Given the description of an element on the screen output the (x, y) to click on. 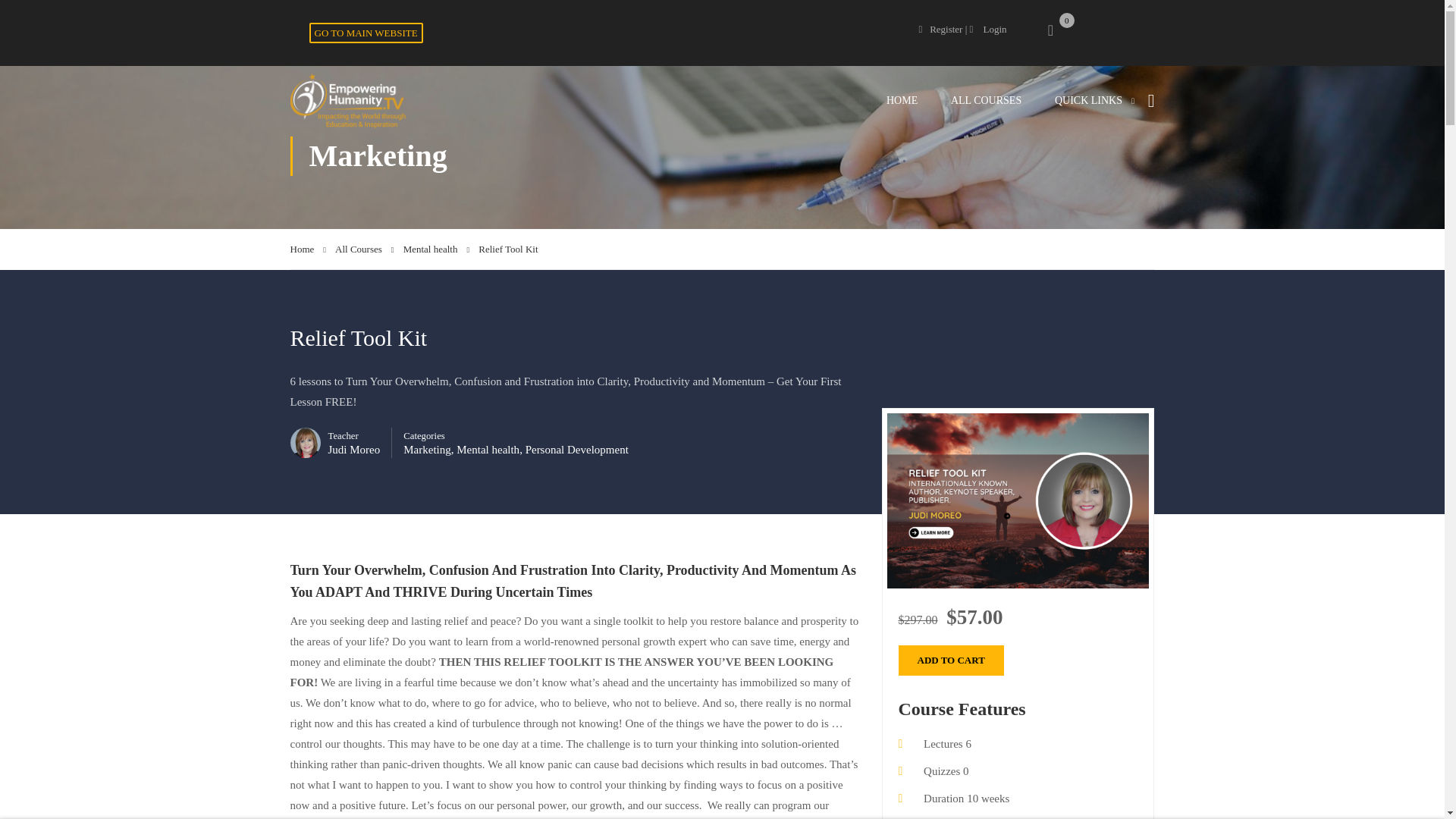
Mental health (488, 449)
ALL COURSES (986, 100)
Judi Moreo (353, 449)
Mental health (436, 249)
GO TO MAIN WEBSITE (365, 32)
Personal Development (576, 449)
All Courses (364, 249)
Home (307, 249)
Login (988, 29)
Marketing (426, 449)
